Given the description of an element on the screen output the (x, y) to click on. 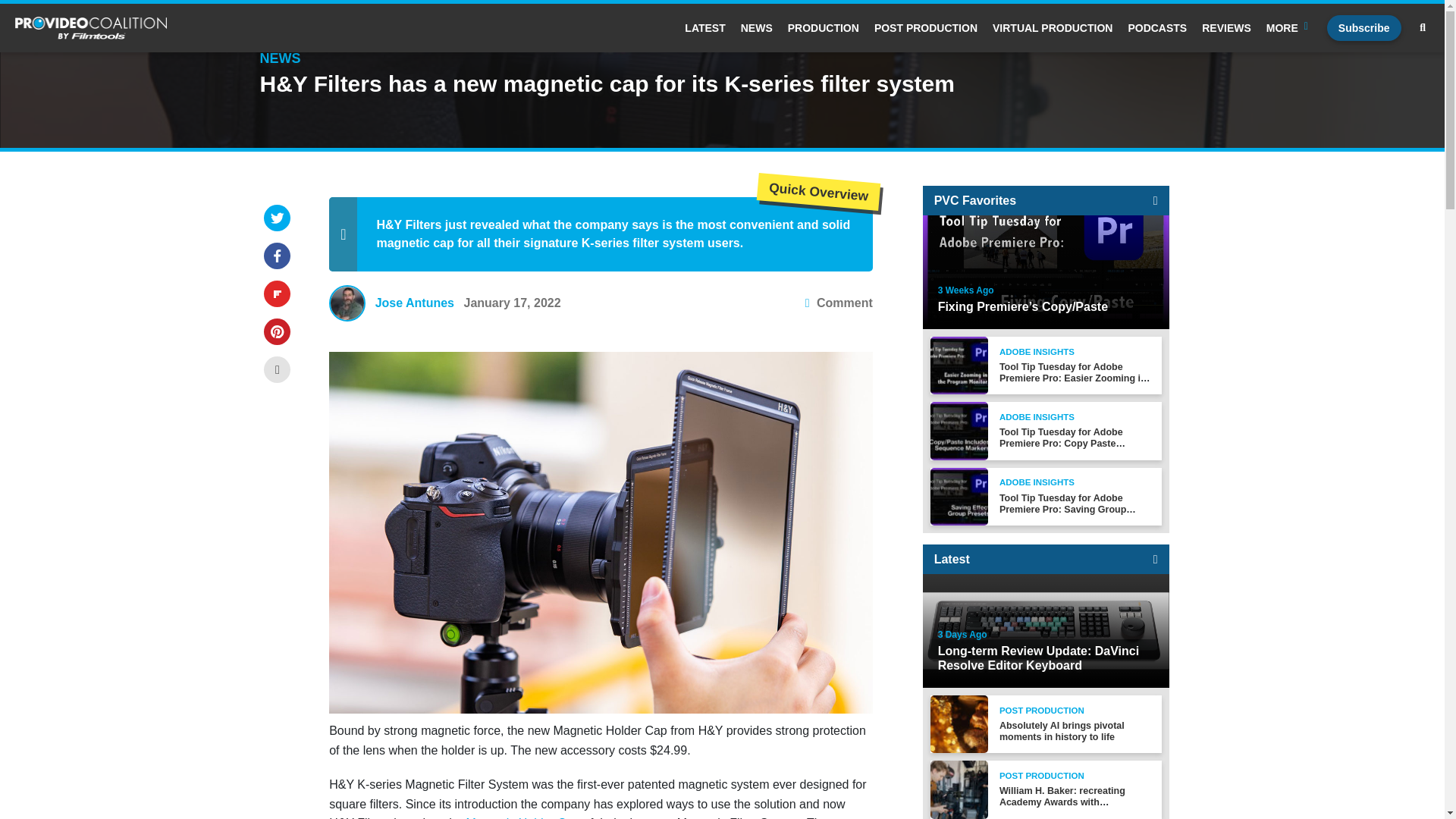
REVIEWS (1226, 27)
Production (823, 27)
Subscribe (1363, 27)
Podcasts (1156, 27)
Search (1422, 27)
MORE (1288, 27)
Reviews (1226, 27)
News (757, 27)
Search (644, 274)
Subscribe (1363, 27)
